Given the description of an element on the screen output the (x, y) to click on. 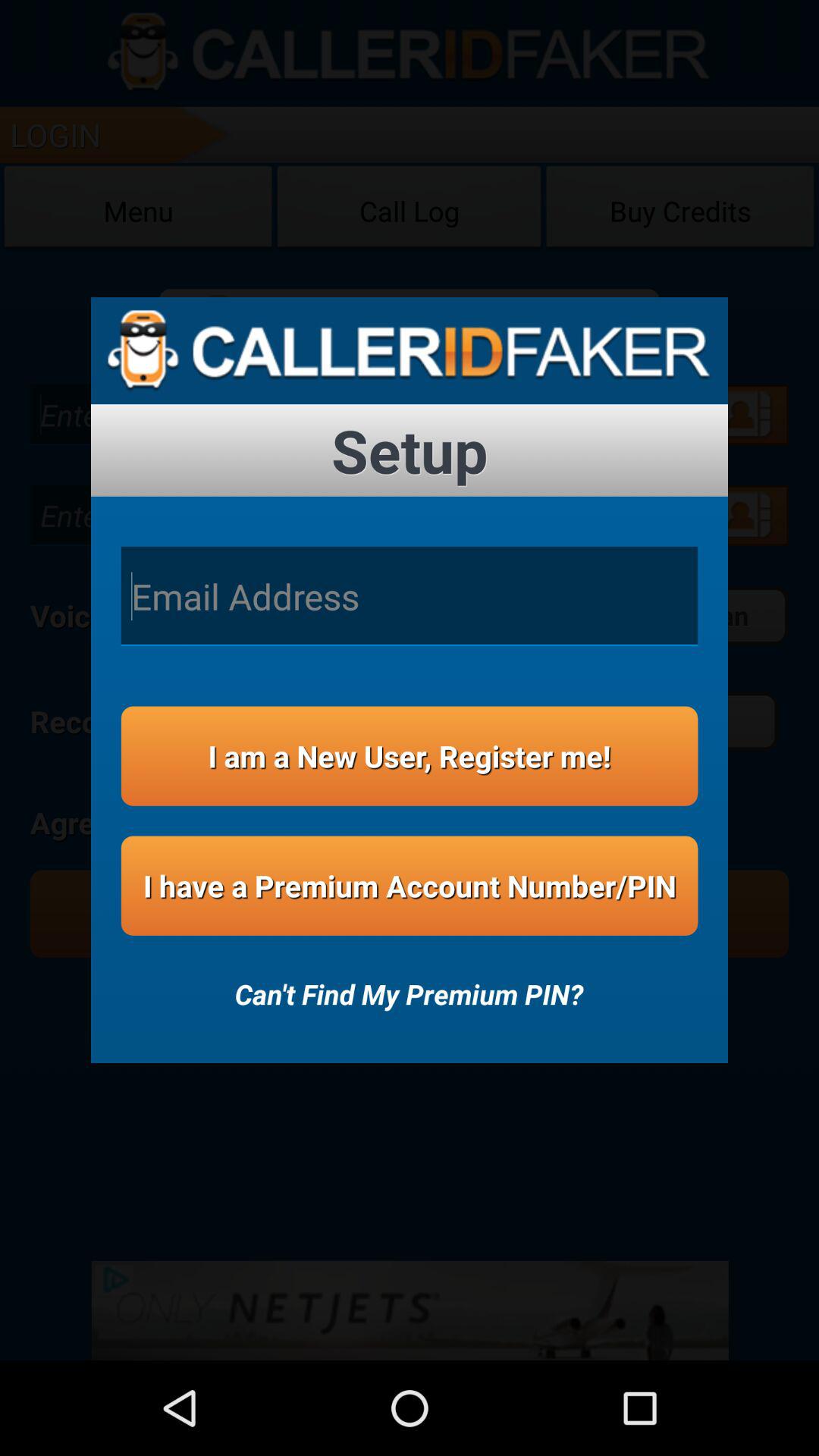
jump to the setup item (409, 450)
